Given the description of an element on the screen output the (x, y) to click on. 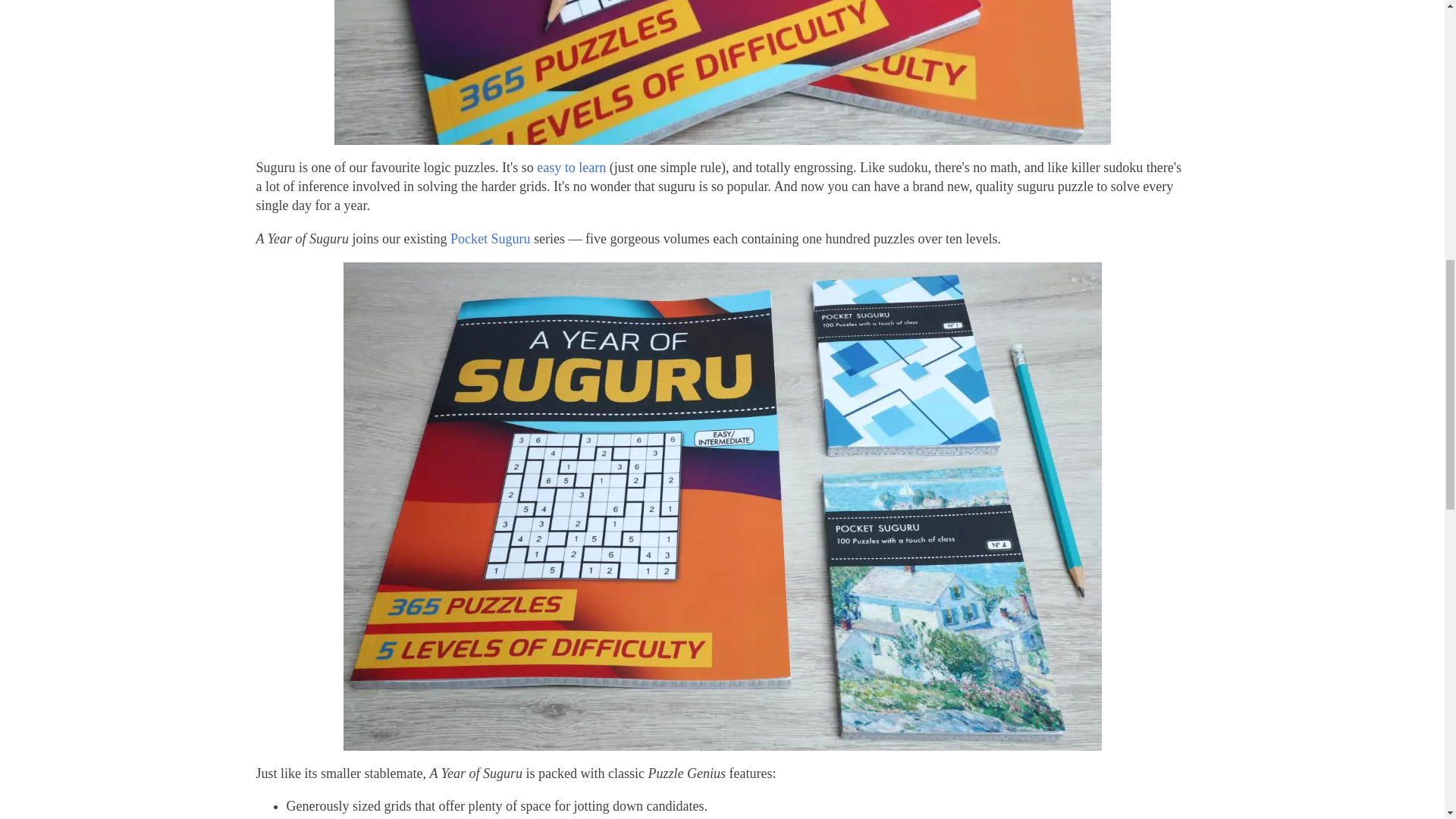
Pocket Suguru (490, 238)
easy to learn (571, 167)
